Given the description of an element on the screen output the (x, y) to click on. 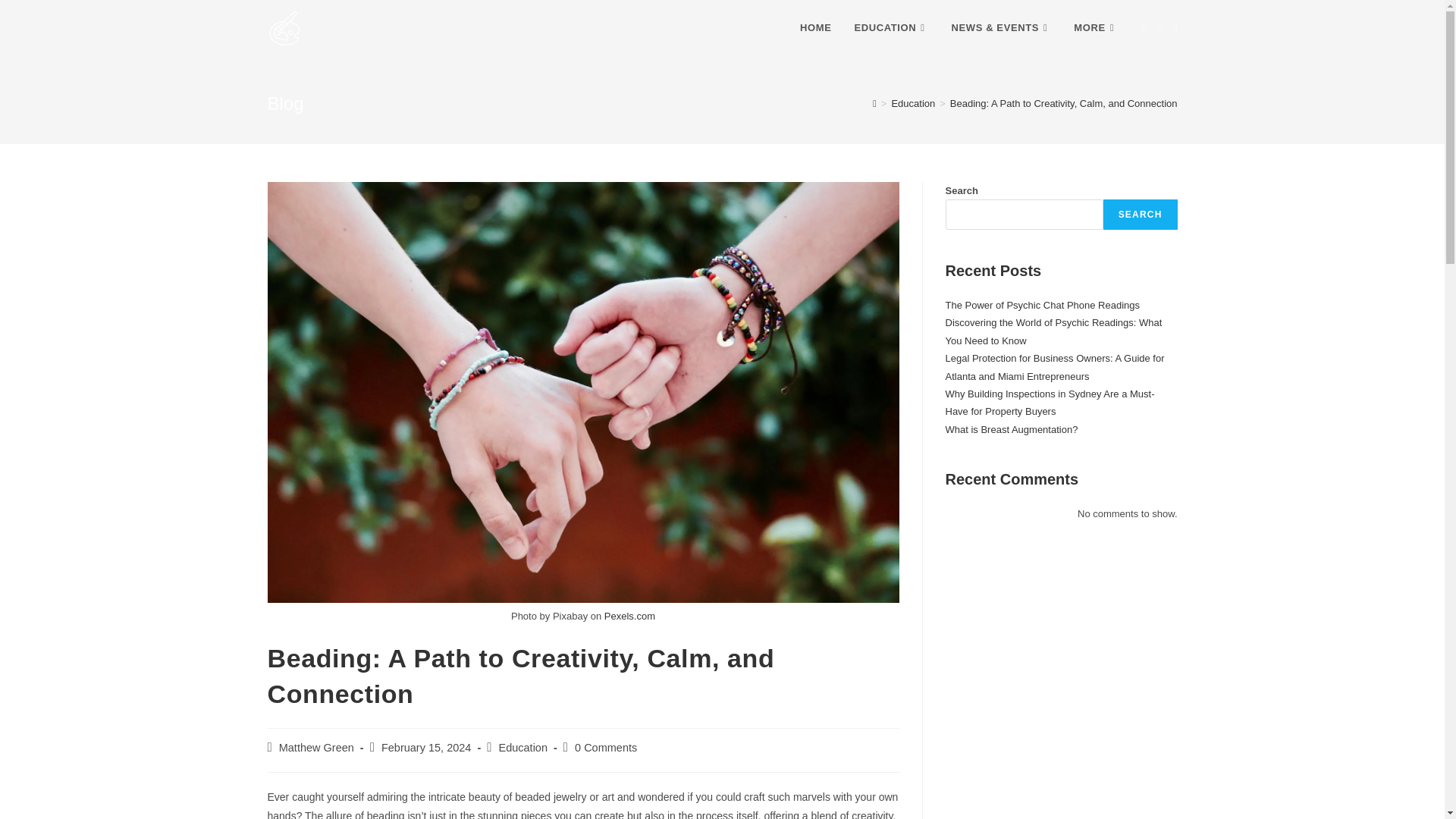
Beading: A Path to Creativity, Calm, and Connection (1063, 102)
Education (522, 747)
Pexels.com (629, 615)
Matthew Green (316, 747)
EDUCATION (891, 28)
HOME (816, 28)
MORE (1095, 28)
0 Comments (606, 747)
Posts by Matthew Green (316, 747)
Education (912, 102)
